Given the description of an element on the screen output the (x, y) to click on. 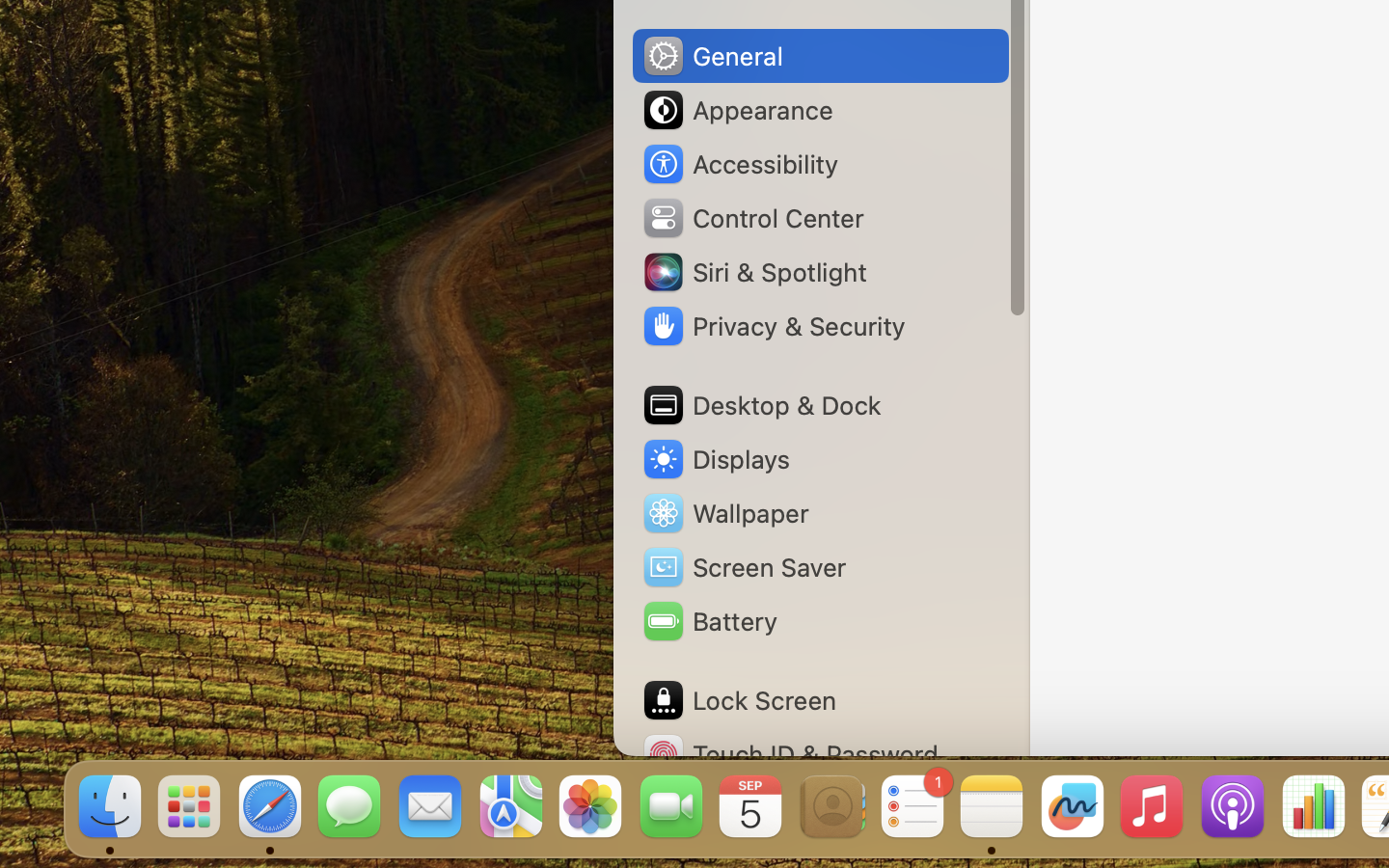
Accessibility Element type: AXStaticText (739, 163)
Wallpaper Element type: AXStaticText (724, 512)
General Element type: AXStaticText (711, 55)
Privacy & Security Element type: AXStaticText (772, 325)
Displays Element type: AXStaticText (715, 458)
